Given the description of an element on the screen output the (x, y) to click on. 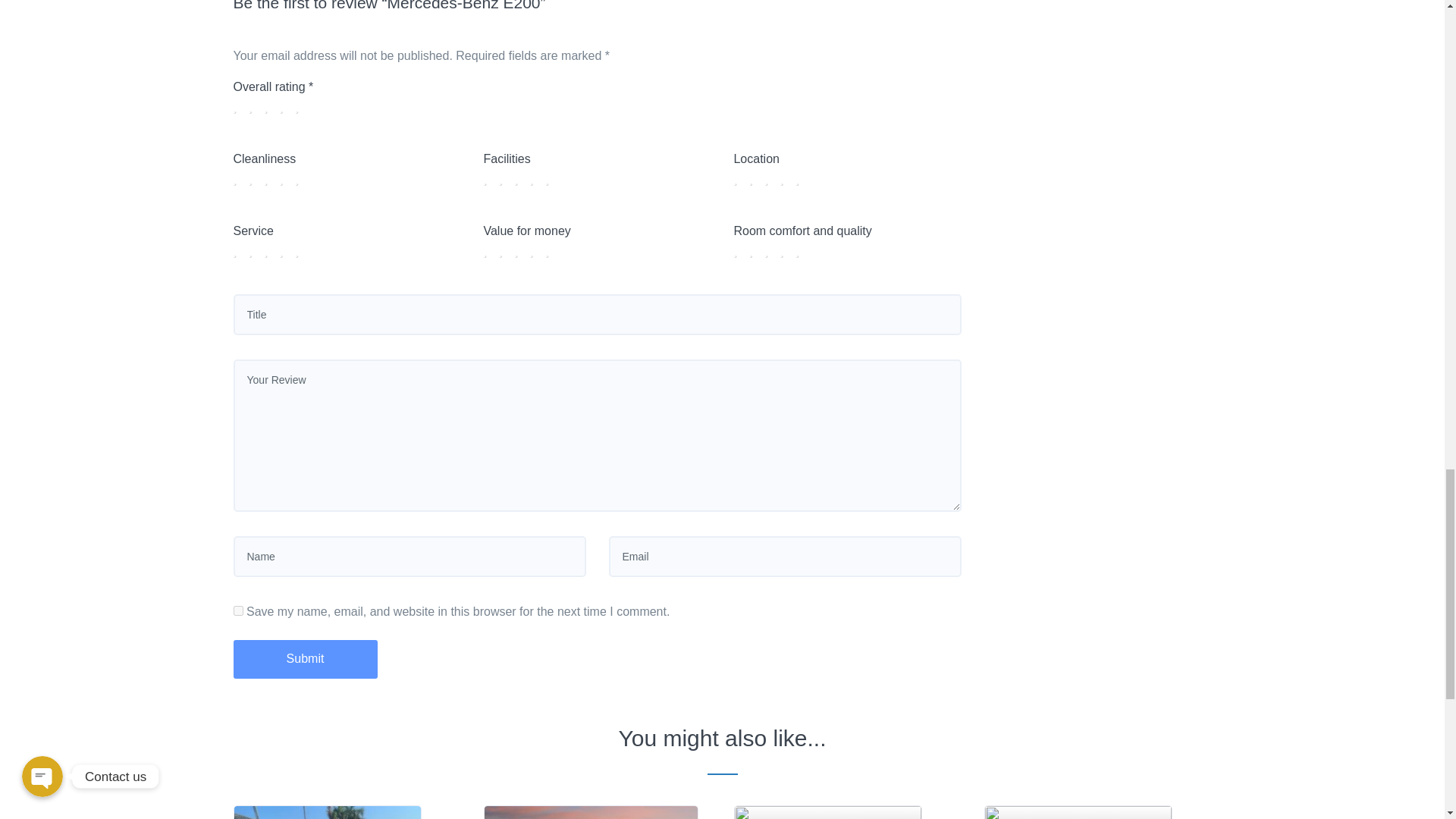
yes (237, 610)
Not that bad (254, 179)
Very poor (489, 179)
Submit (304, 658)
Average (269, 179)
Perfect (301, 179)
Good (285, 179)
Very poor (239, 179)
